Given the description of an element on the screen output the (x, y) to click on. 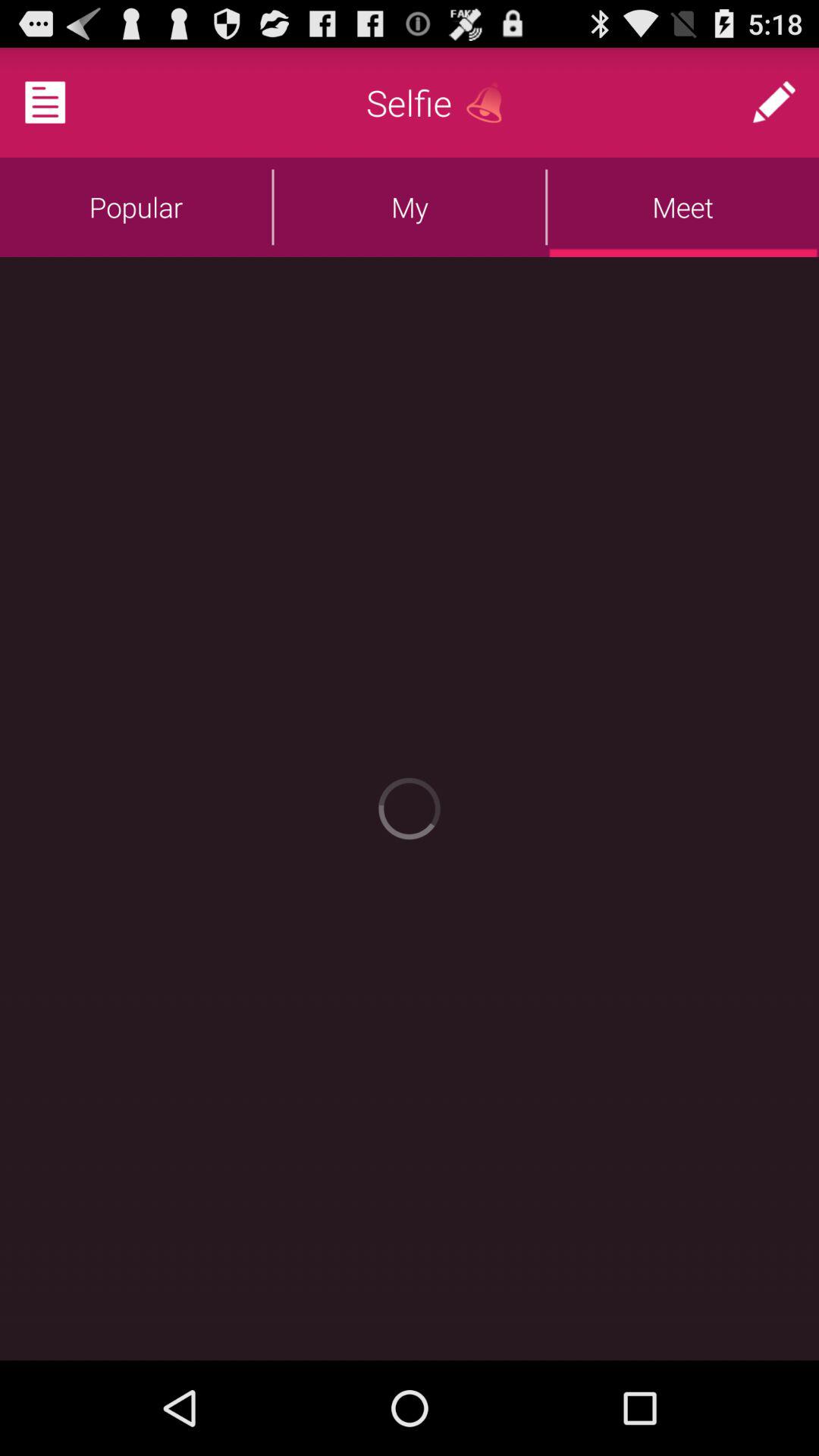
include text and save (63, 102)
